Given the description of an element on the screen output the (x, y) to click on. 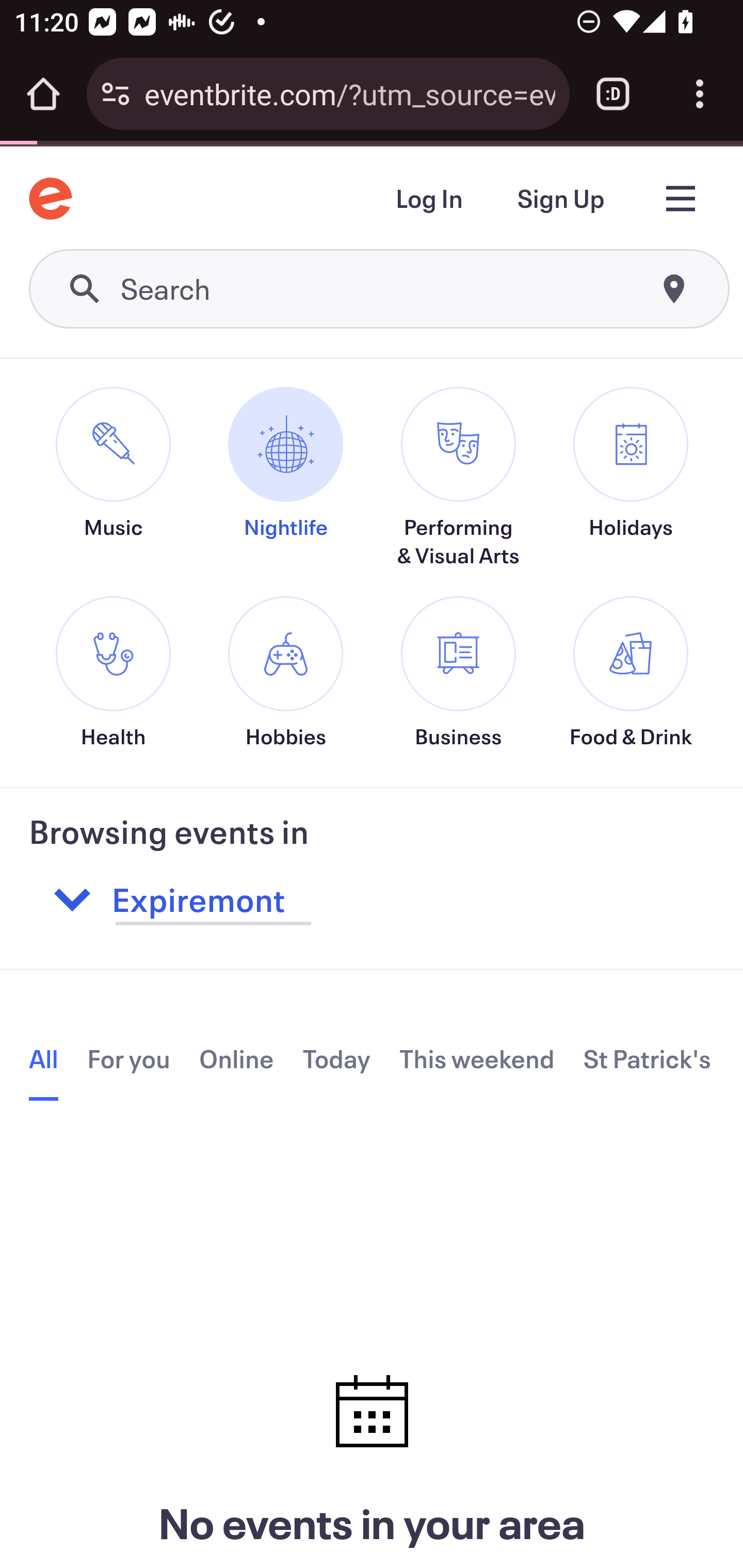
Open the home page (43, 93)
Connection is secure (115, 93)
Switch or close tabs (612, 93)
Customize and control Google Chrome (699, 93)
Log In (428, 199)
Sign Up (560, 199)
Home Eventbrite (50, 199)
Search (379, 289)
Music (112, 491)
Nightlife (285, 491)
Performing & Visual Arts (458, 478)
Holidays (630, 491)
Health (112, 674)
Hobbies (285, 674)
Business (458, 674)
Food & Drink (630, 674)
Expiremont (338, 901)
All (43, 1062)
For you (128, 1060)
Online (236, 1060)
Today (336, 1060)
This weekend (477, 1060)
St Patrick's Day (648, 1060)
